Given the description of an element on the screen output the (x, y) to click on. 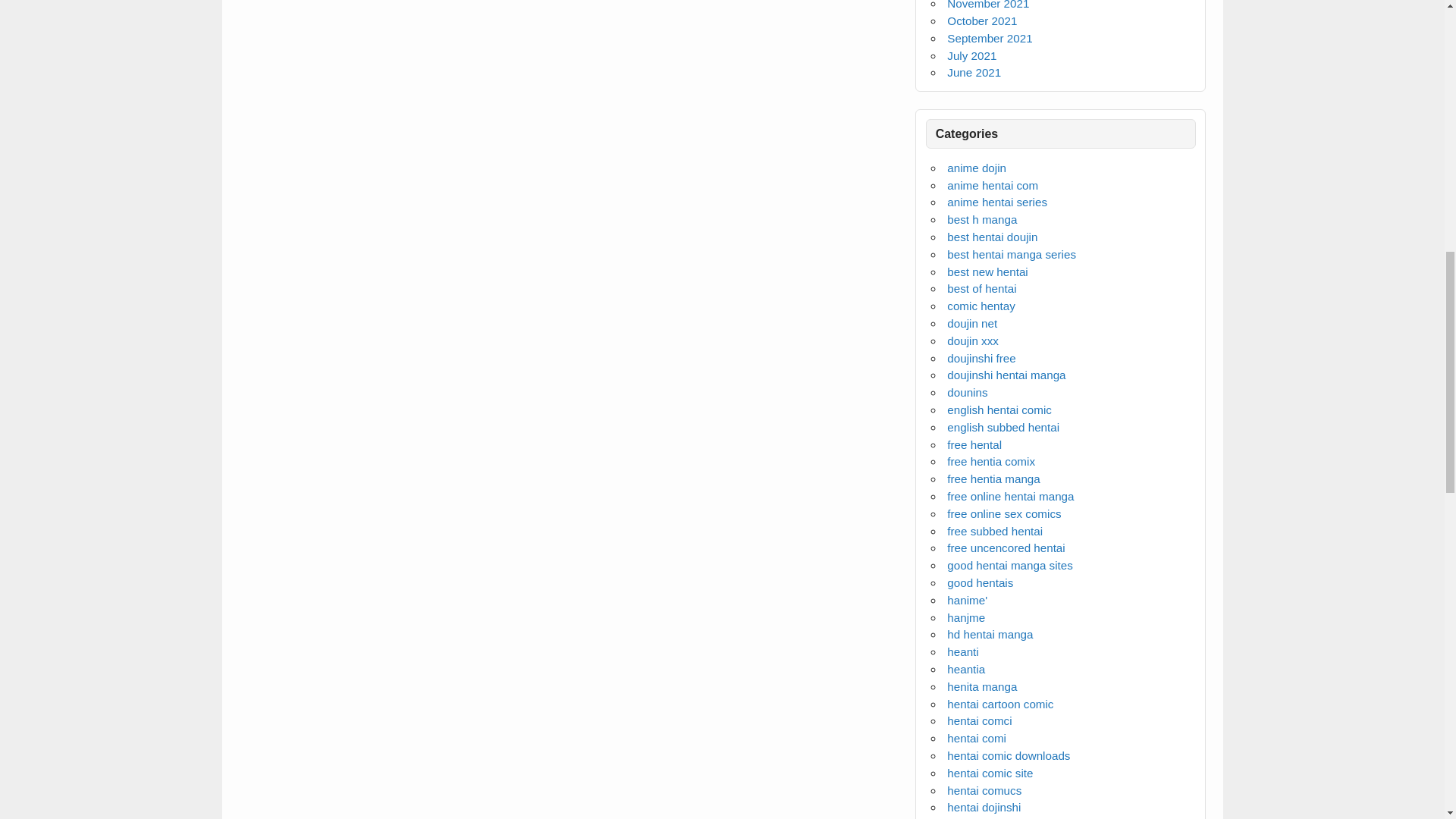
anime dojin (976, 167)
anime hentai series (996, 201)
July 2021 (971, 55)
best hentai manga series (1011, 254)
anime hentai com (992, 185)
November 2021 (988, 4)
September 2021 (989, 38)
June 2021 (974, 72)
October 2021 (981, 20)
best of hentai (981, 287)
